Given the description of an element on the screen output the (x, y) to click on. 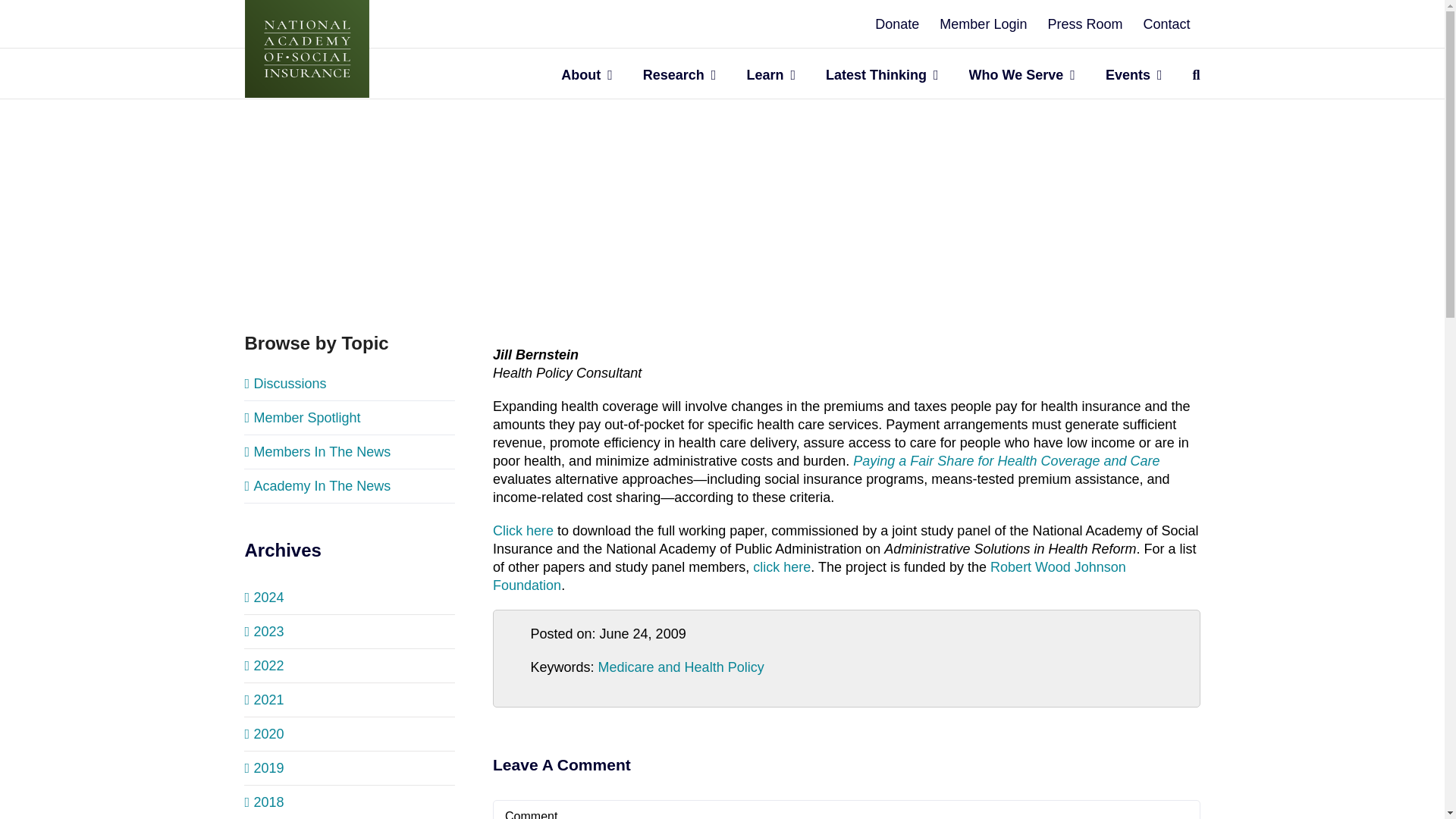
Press Room (1084, 23)
Donate (896, 23)
Learn (769, 72)
About (586, 72)
Research (679, 72)
Member Login (983, 23)
Contact (1165, 23)
